Given the description of an element on the screen output the (x, y) to click on. 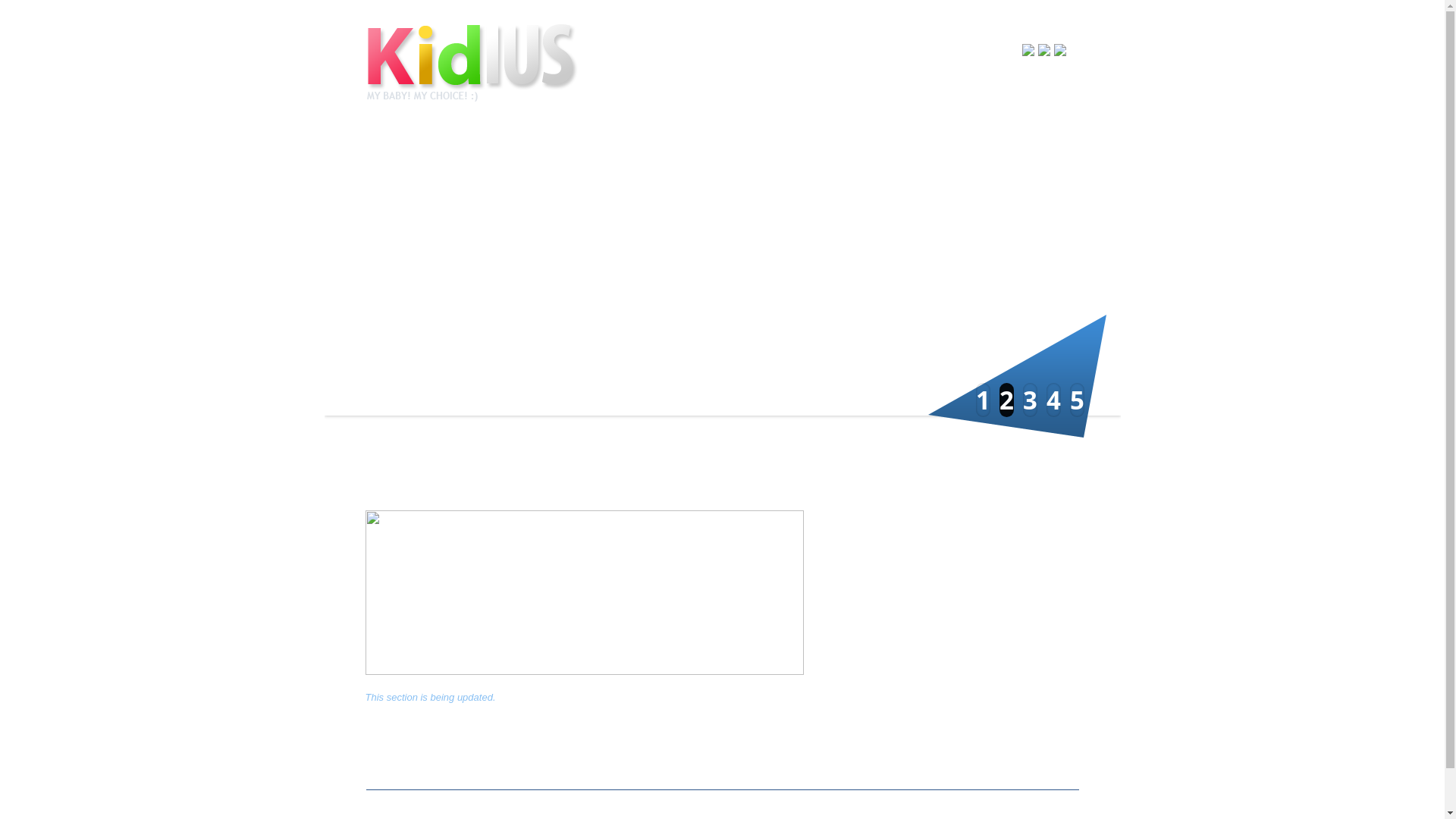
3 Element type: text (1029, 399)
Help Element type: text (977, 48)
Events Element type: text (721, 141)
5 Element type: text (1076, 399)
Login Element type: text (943, 48)
2 Element type: text (1006, 399)
About Element type: text (495, 141)
NEWS Element type: text (989, 82)
Home Element type: text (382, 141)
1 Element type: text (982, 399)
GALLERY Element type: text (1045, 82)
Contacts Element type: text (947, 141)
English Element type: hover (1043, 49)
4 Element type: text (1053, 399)
Home Element type: hover (481, 61)
FAQs Element type: text (834, 141)
Bosanski Element type: hover (1028, 49)
Teachers Element type: text (608, 141)
HOME Element type: text (942, 82)
